Given the description of an element on the screen output the (x, y) to click on. 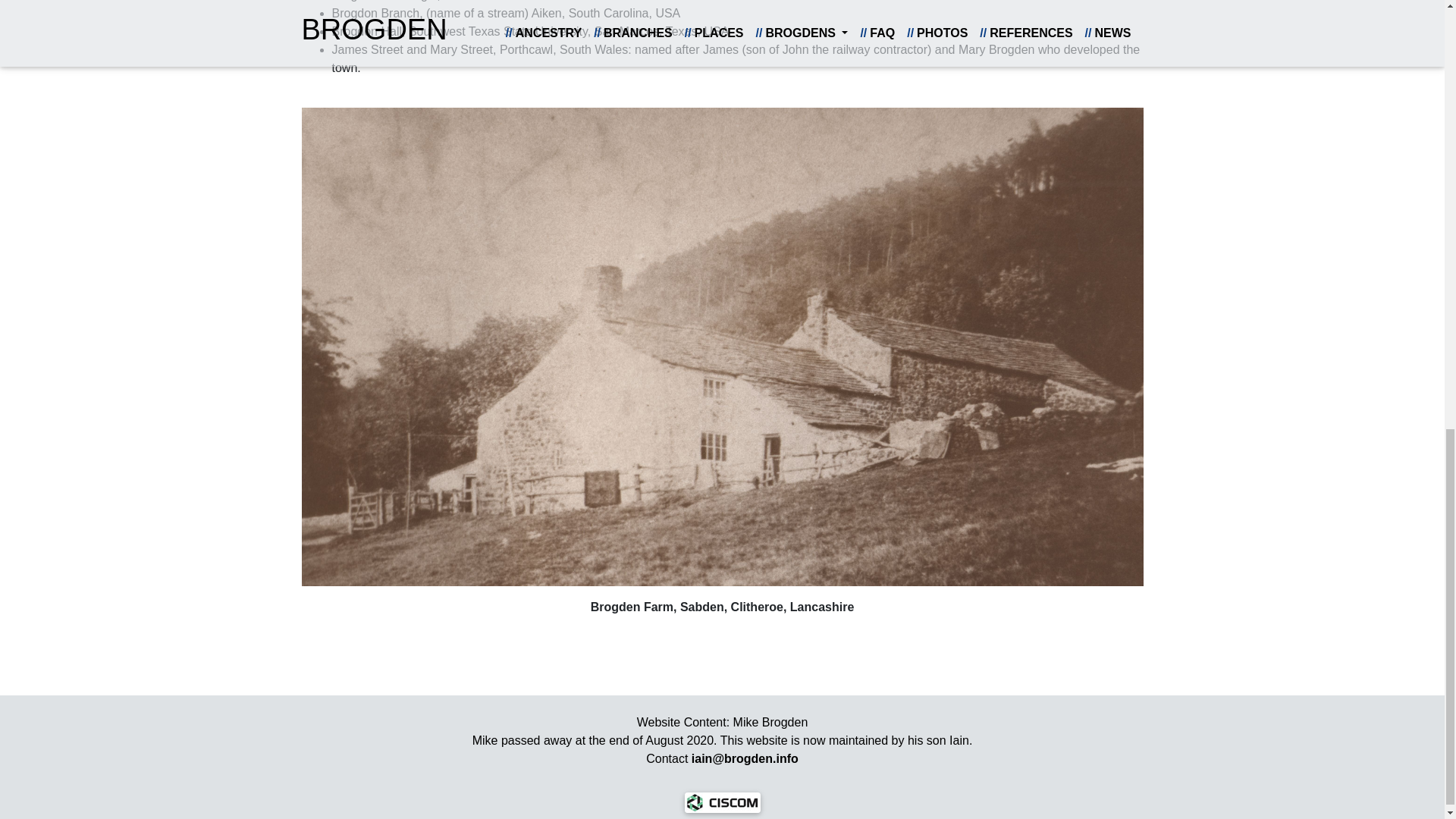
Email (744, 758)
Ciscom Web Design and Development (722, 801)
